Given the description of an element on the screen output the (x, y) to click on. 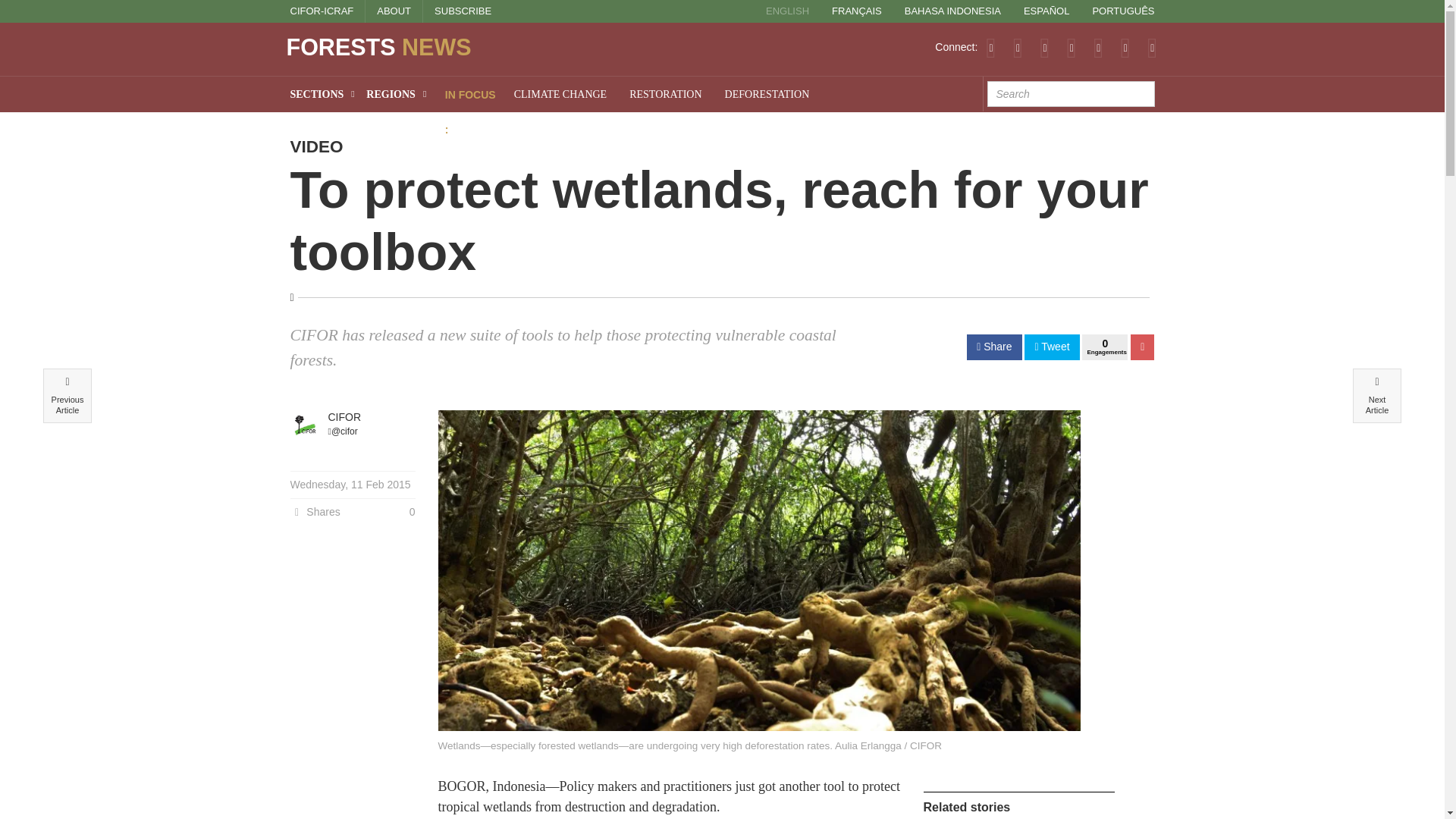
ABOUT (393, 10)
ENGLISH (787, 11)
CIFOR-ICRAF (321, 10)
Email (1152, 46)
SUBSCRIBE (462, 10)
LinkedIn (1071, 46)
Share on Facebook (994, 347)
Facebook (1044, 46)
BAHASA INDONESIA (952, 11)
Feed (990, 46)
